Given the description of an element on the screen output the (x, y) to click on. 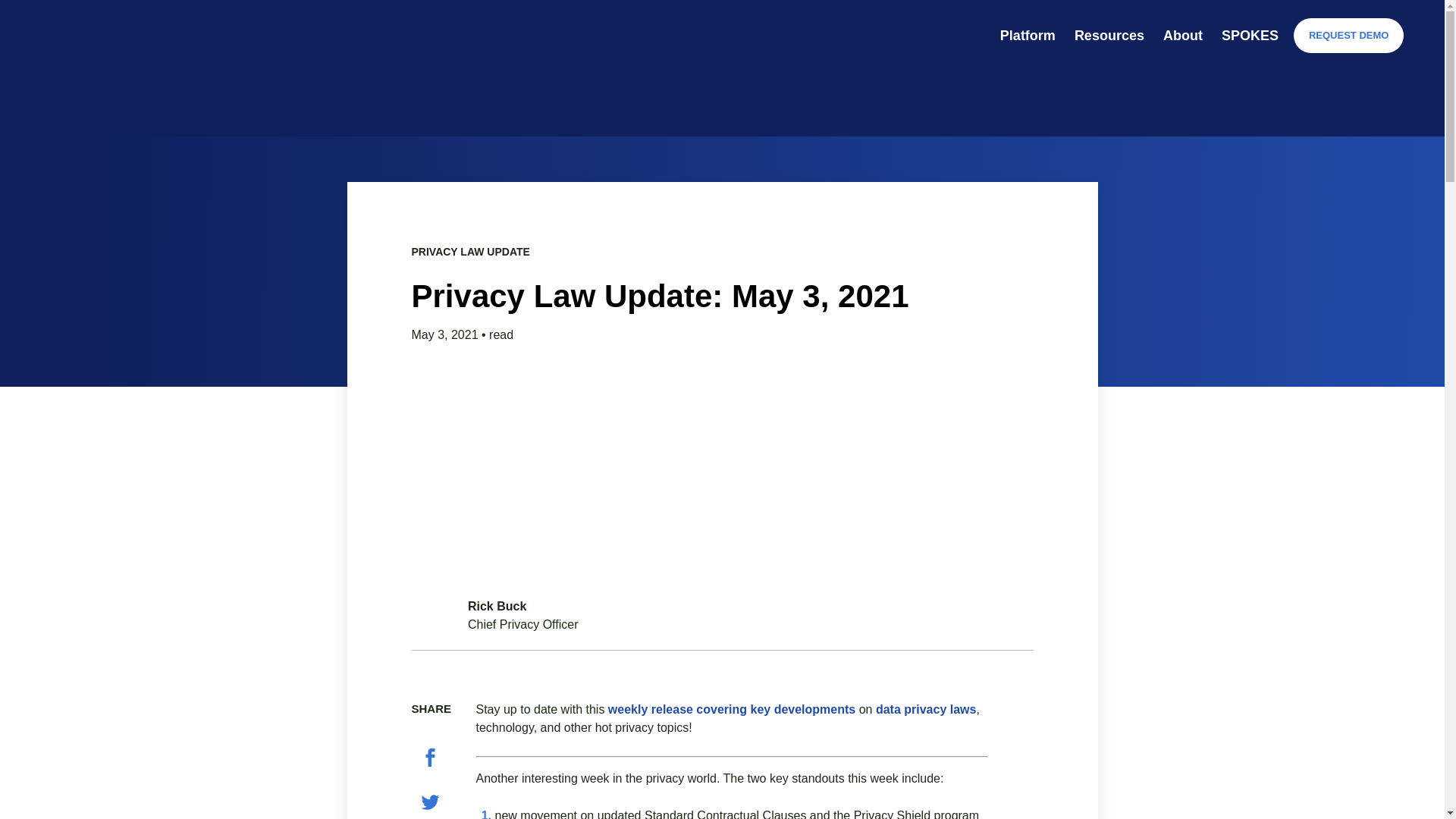
Platform (1027, 35)
Resources (1109, 35)
About (1182, 35)
SPOKES (1249, 35)
REQUEST DEMO (1348, 35)
